Given the description of an element on the screen output the (x, y) to click on. 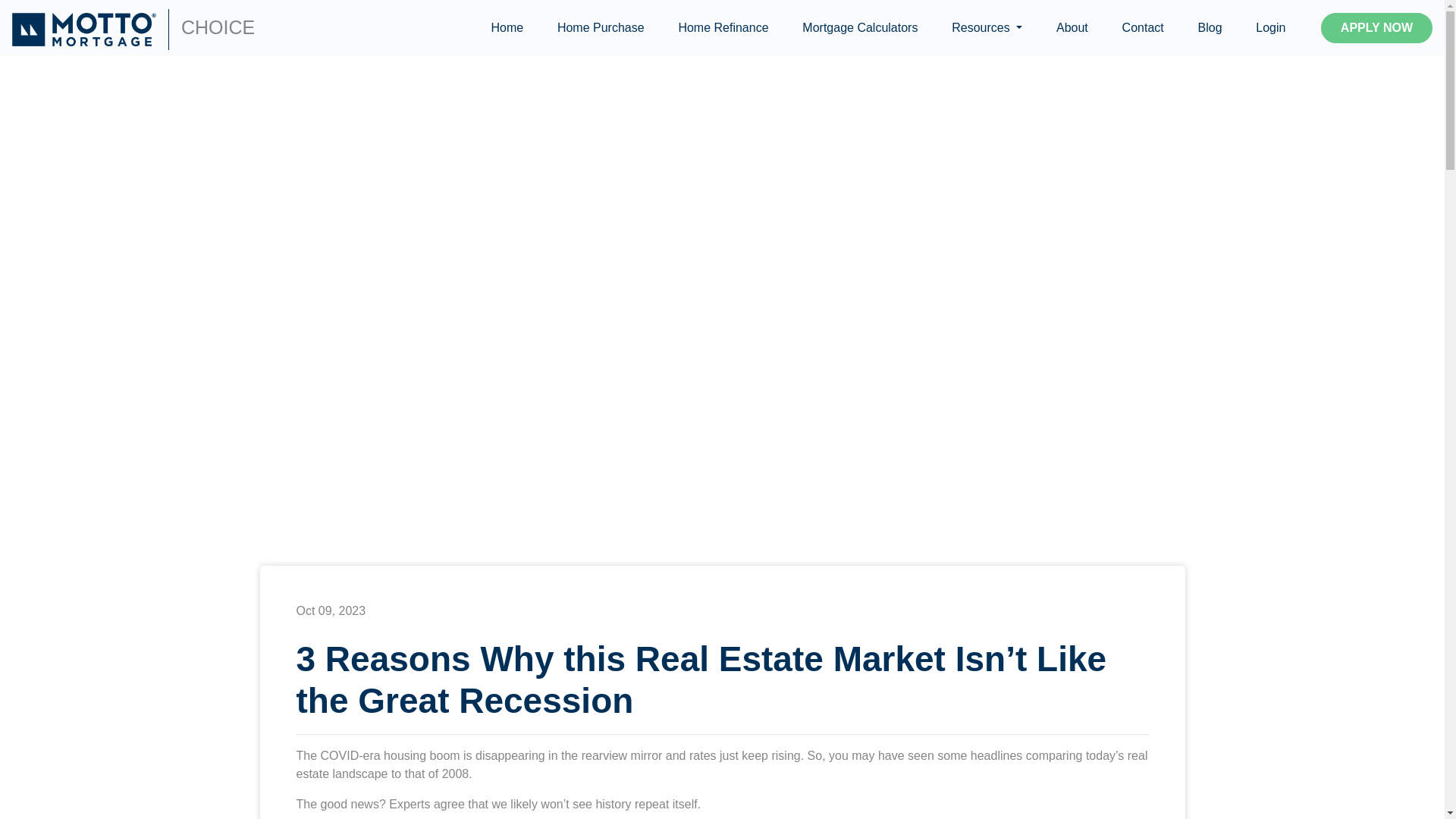
Mortgage Calculators (860, 28)
Resources (986, 28)
Home Refinance (723, 28)
Home (507, 28)
Blog (1209, 28)
APPLY NOW (1376, 28)
Contact (1142, 28)
About (1072, 28)
Home Purchase (600, 28)
Login (1271, 28)
